Given the description of an element on the screen output the (x, y) to click on. 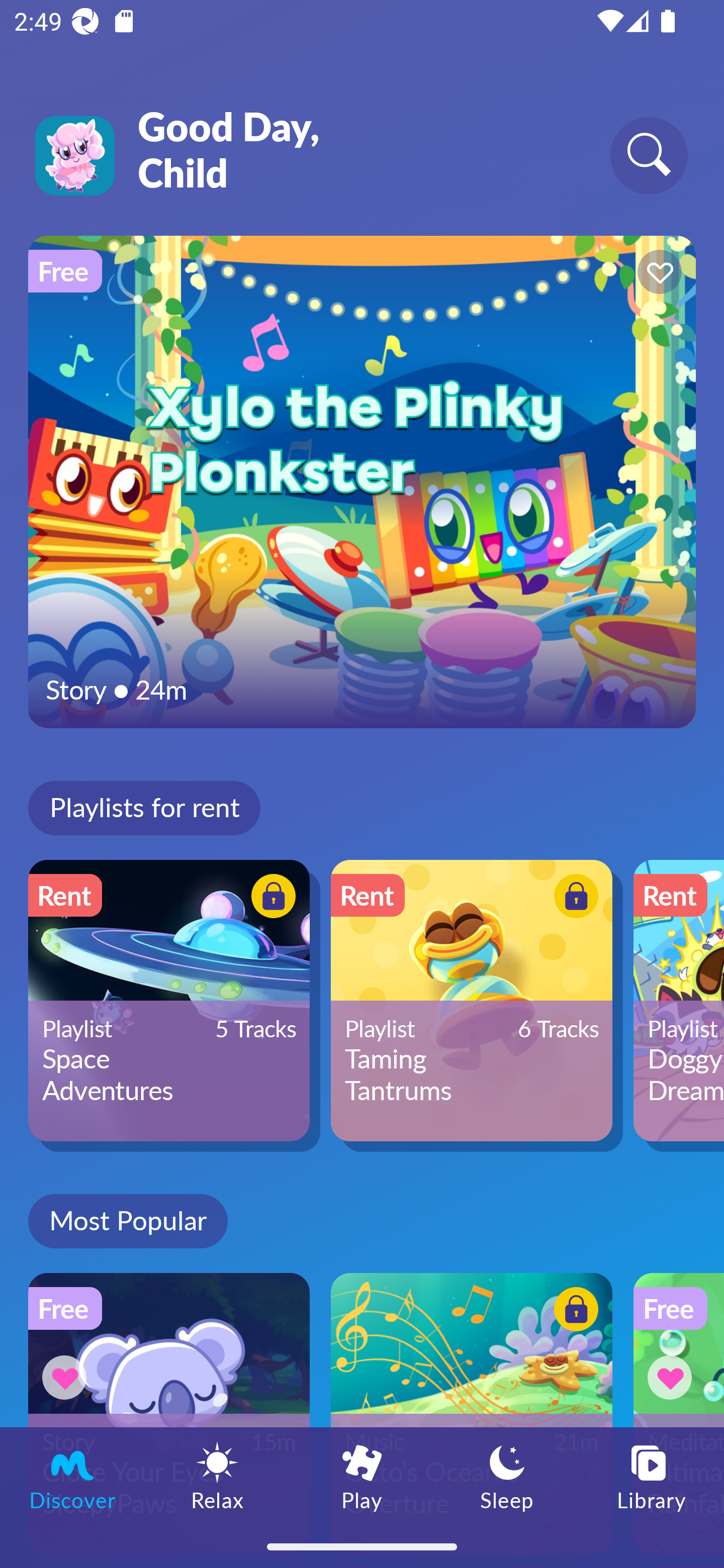
Search (648, 154)
Featured Content Free Button Story ● 24m (361, 481)
Button (656, 274)
Button (269, 898)
Button (573, 898)
Button (573, 1312)
Button (67, 1377)
Button (672, 1377)
Relax (216, 1475)
Play (361, 1475)
Sleep (506, 1475)
Library (651, 1475)
